Given the description of an element on the screen output the (x, y) to click on. 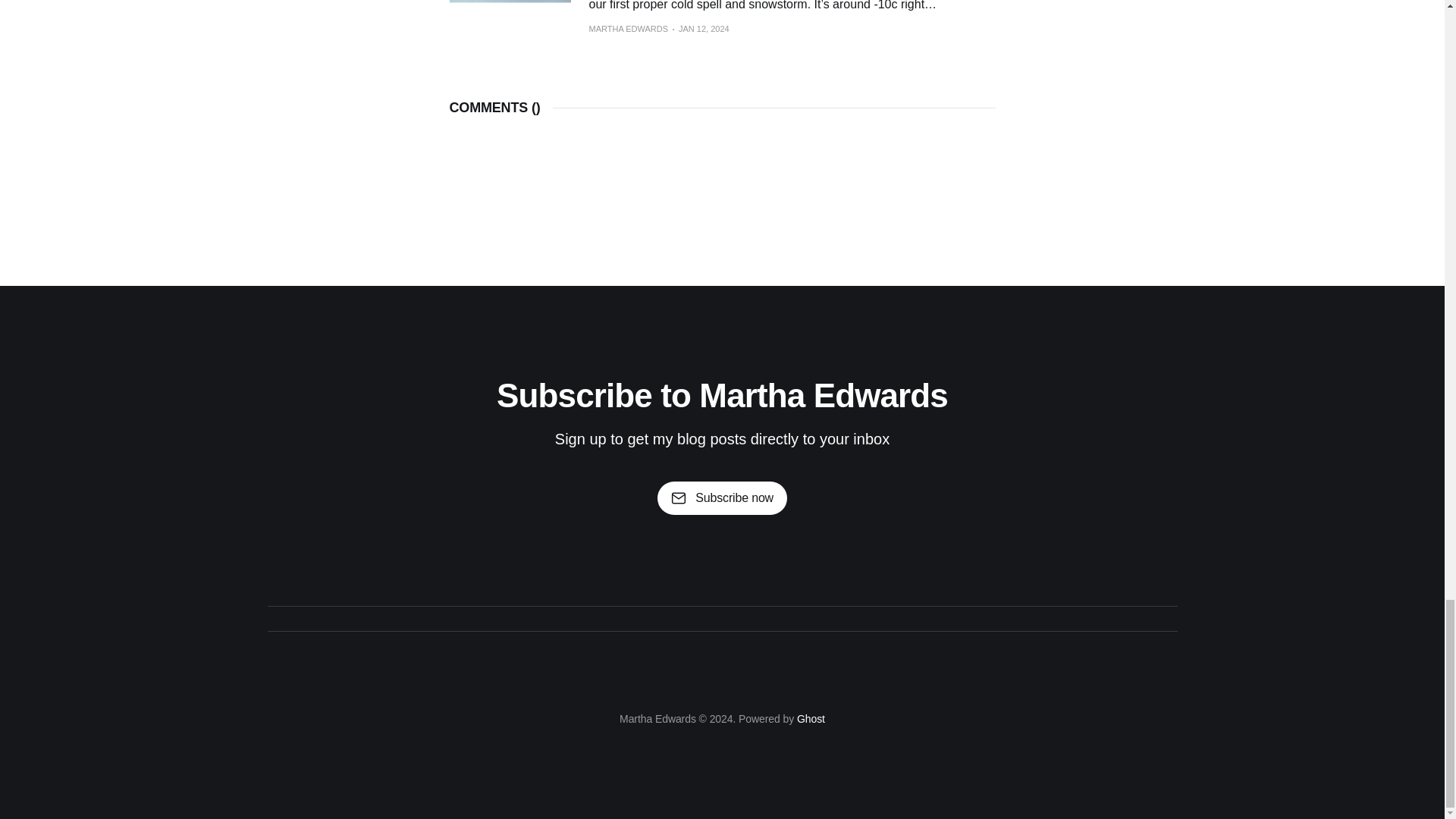
Subscribe now (722, 498)
Ghost (810, 718)
